Given the description of an element on the screen output the (x, y) to click on. 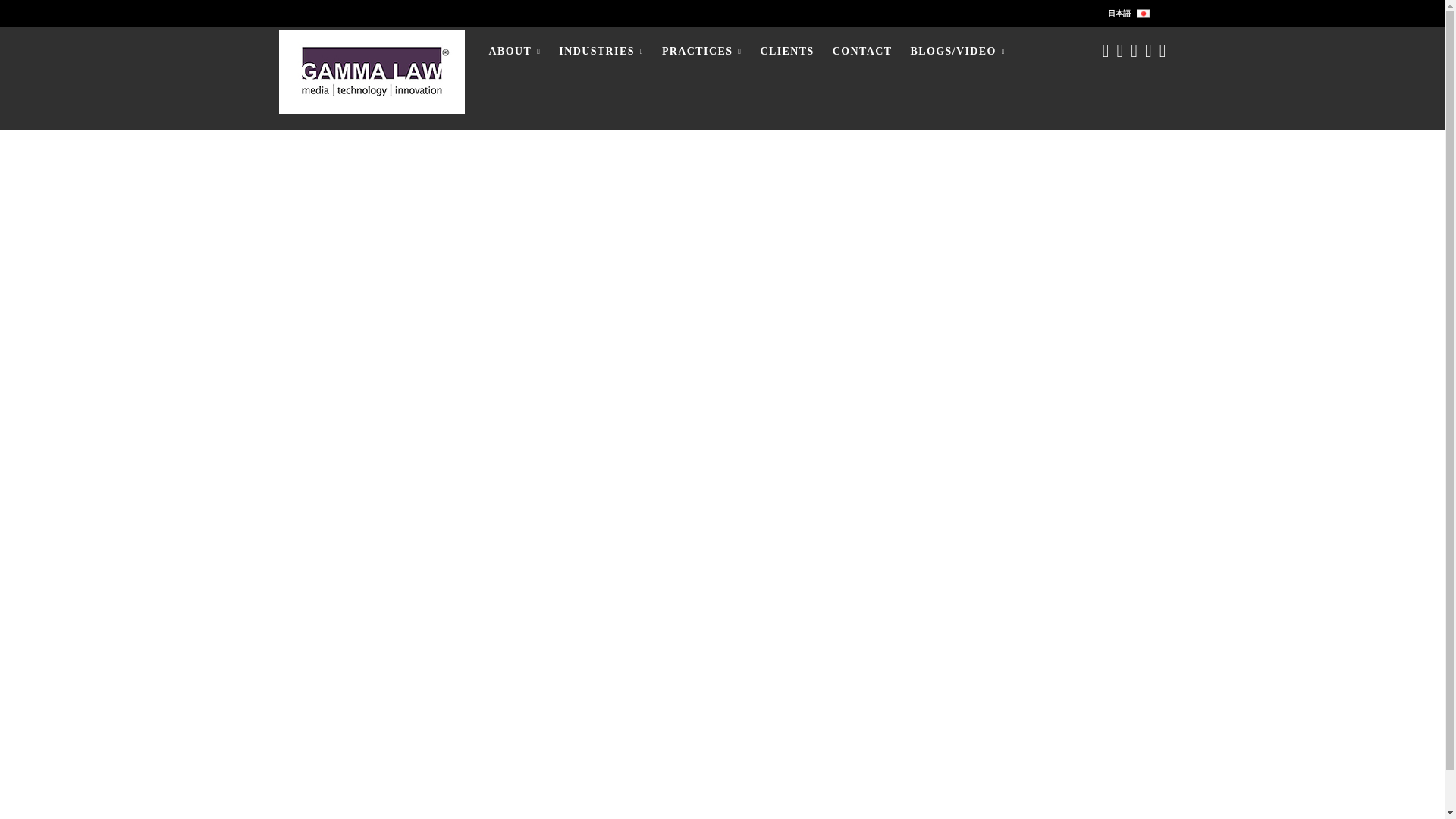
Our Expertise (601, 51)
Gamma Law (371, 71)
